Given the description of an element on the screen output the (x, y) to click on. 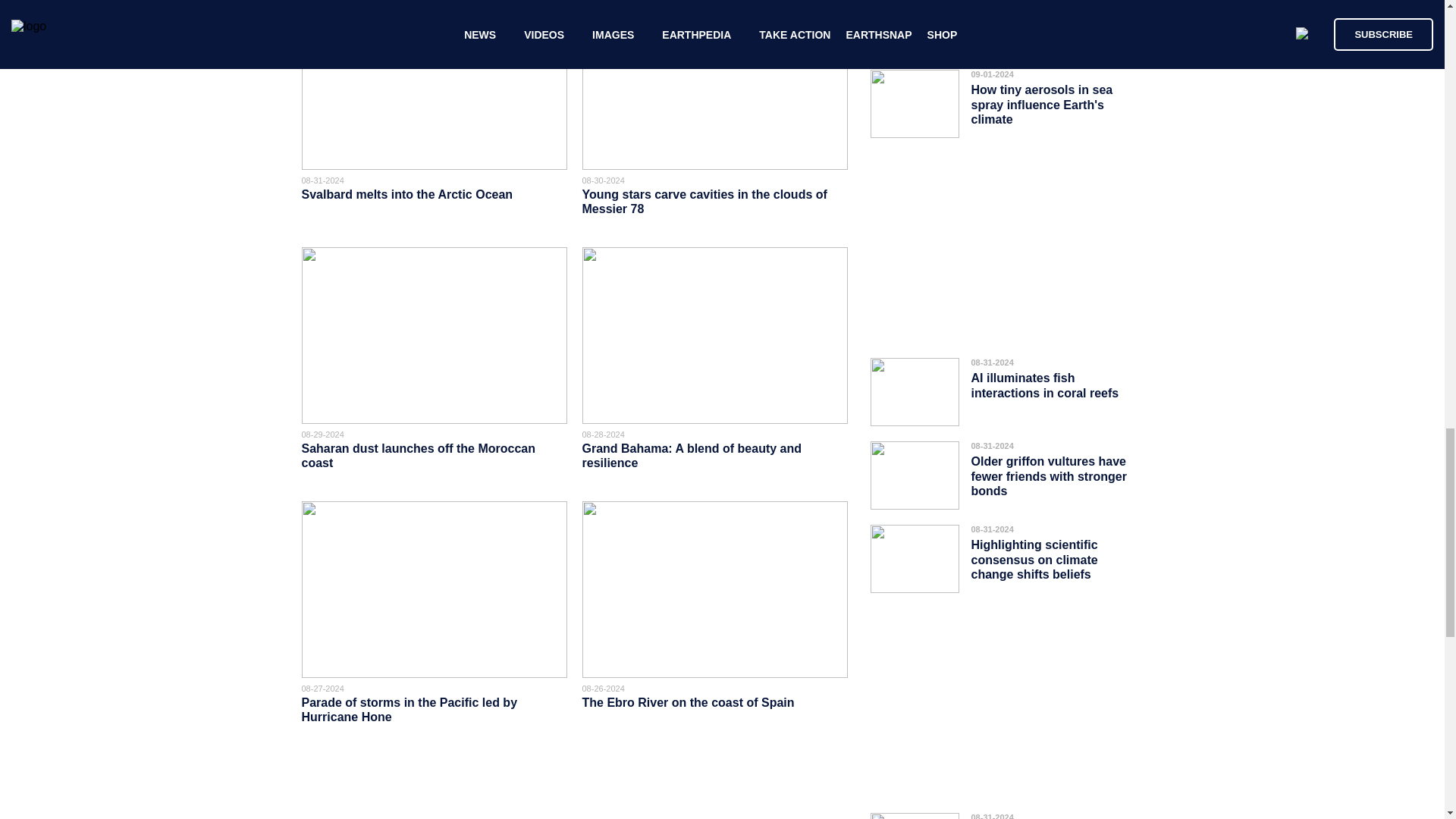
Young stars carve cavities in the clouds of Messier 78 (704, 201)
What powers the sun's supersonic solar wind? (1038, 17)
The Ebro River on the coast of Spain (688, 702)
Svalbard melts into the Arctic Ocean  (408, 194)
Grand Bahama: A blend of beauty and resilience  (692, 455)
Parade of storms in the Pacific led by Hurricane Hone (409, 709)
Saharan dust launches off the Moroccan coast (418, 455)
